Given the description of an element on the screen output the (x, y) to click on. 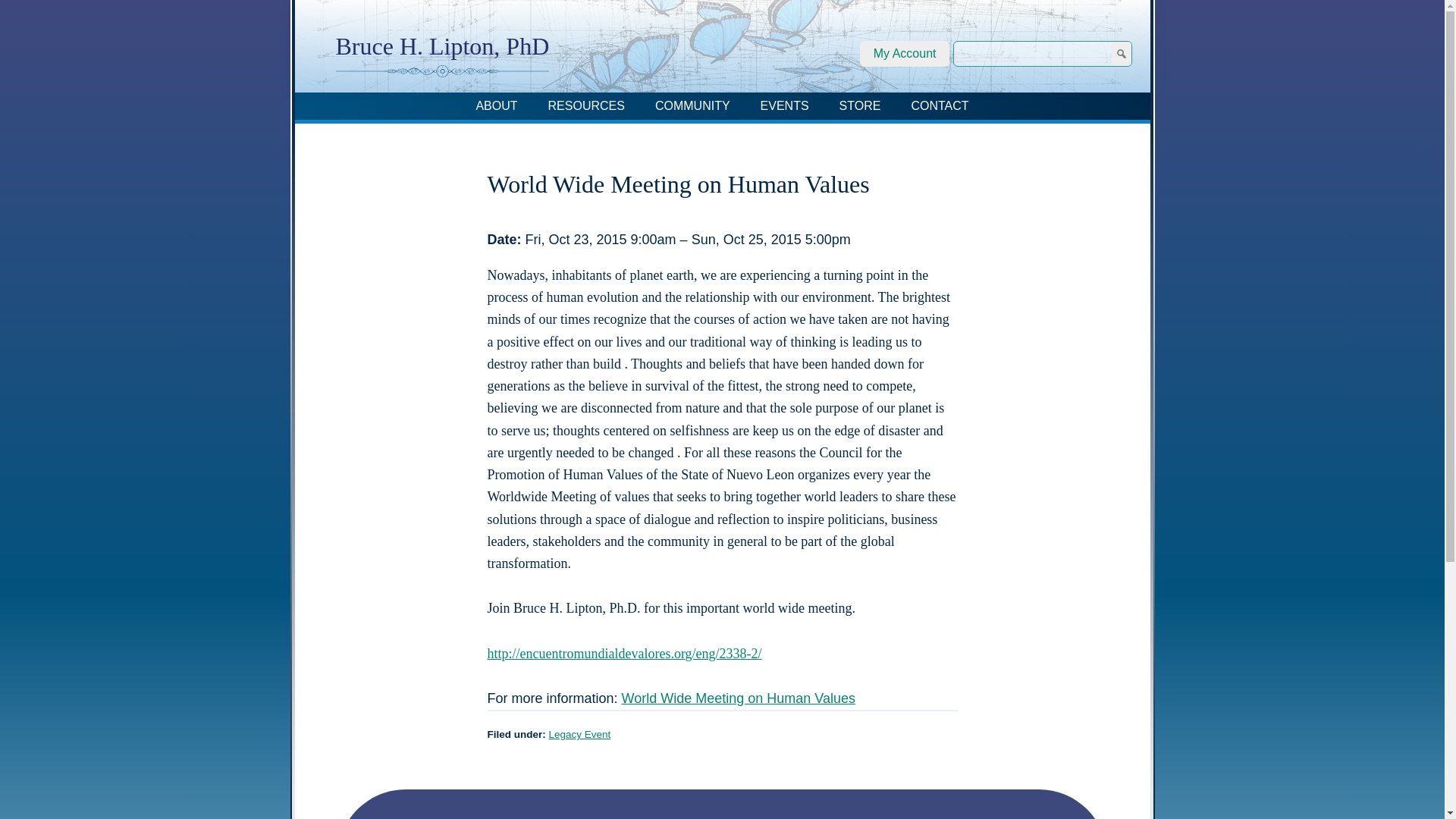
My Account (904, 52)
Legacy Event (579, 734)
CONTACT (939, 105)
World Wide Meeting on Human Values (738, 698)
STORE (860, 105)
EVENTS (784, 105)
Bruce H. Lipton, PhD (441, 45)
RESOURCES (586, 105)
My Account (905, 53)
COMMUNITY (692, 105)
ABOUT (496, 105)
